Given the description of an element on the screen output the (x, y) to click on. 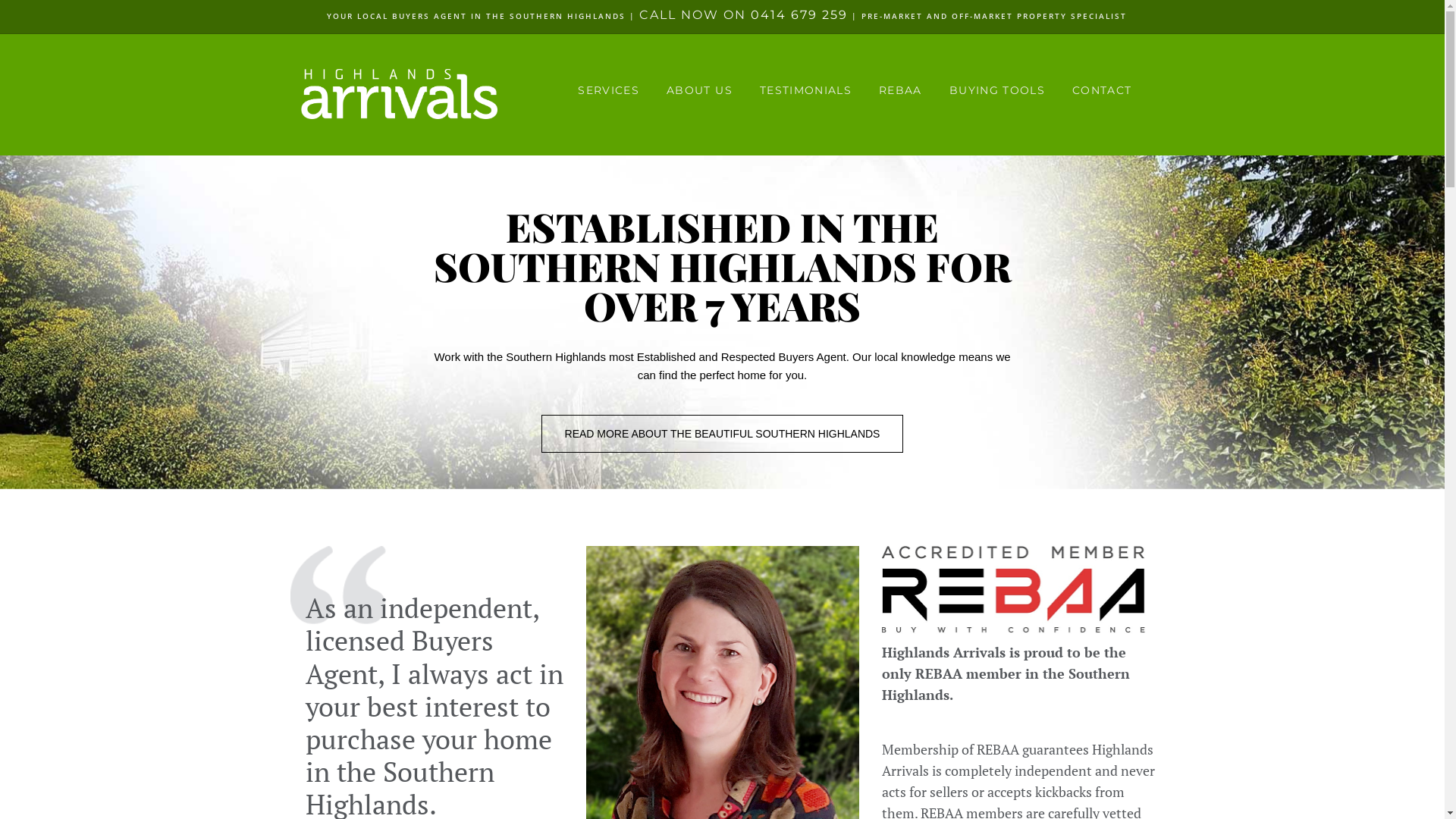
BUYING TOOLS Element type: text (997, 90)
TESTIMONIALS Element type: text (805, 90)
REBAA Element type: text (900, 90)
SERVICES Element type: text (608, 90)
READ MORE ABOUT THE BEAUTIFUL SOUTHERN HIGHLANDS Element type: text (722, 433)
ABOUT US Element type: text (699, 90)
CONTACT Element type: text (1101, 90)
0414 679 259 Element type: text (798, 14)
REBAA Element type: hover (1017, 603)
